Given the description of an element on the screen output the (x, y) to click on. 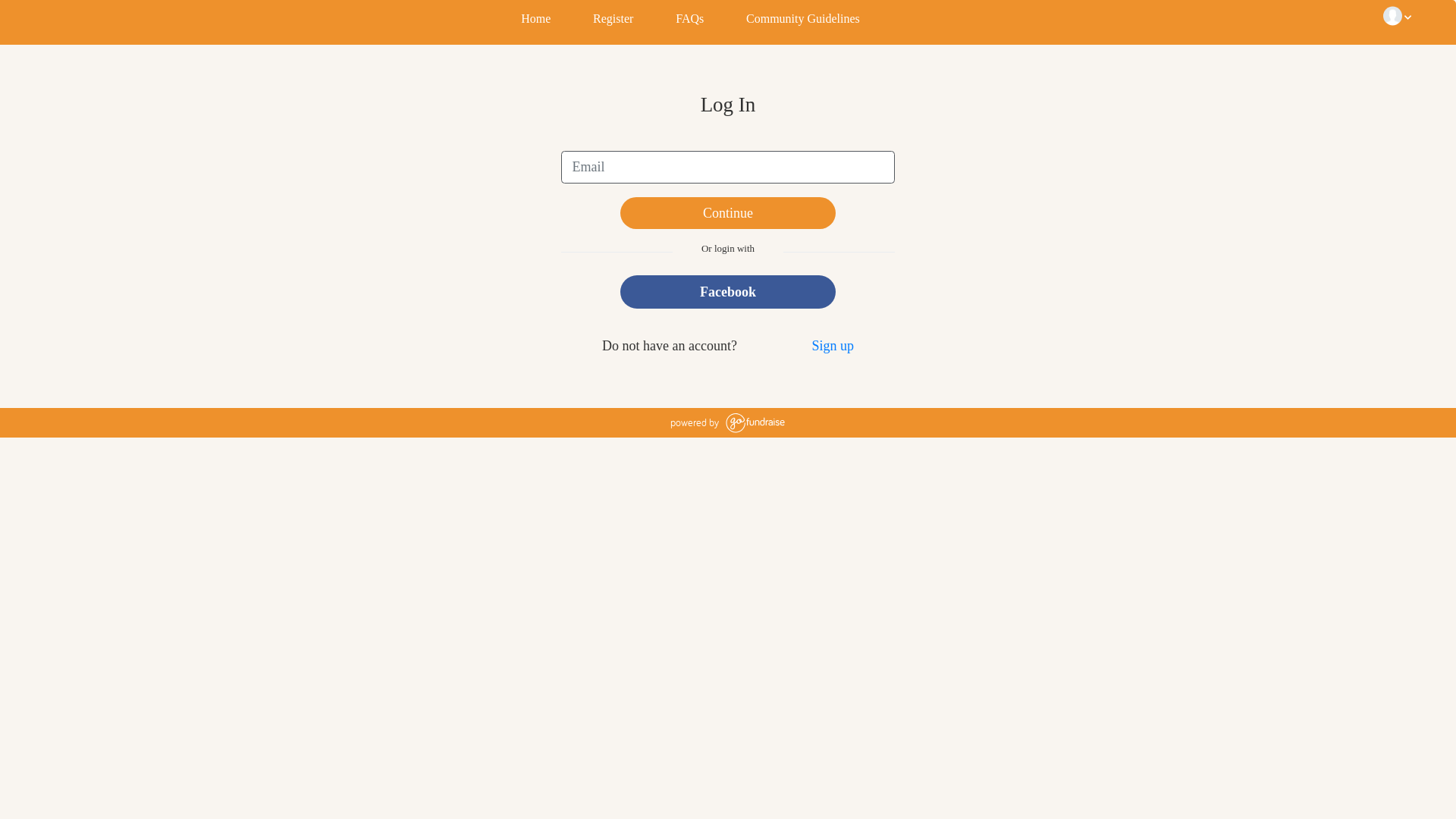
Community Guidelines Element type: text (801, 19)
Home Element type: text (534, 19)
Facebook Element type: text (727, 291)
Continue Element type: text (727, 213)
FAQs Element type: text (688, 19)
Sign up Element type: text (832, 345)
Register Element type: text (611, 19)
